Given the description of an element on the screen output the (x, y) to click on. 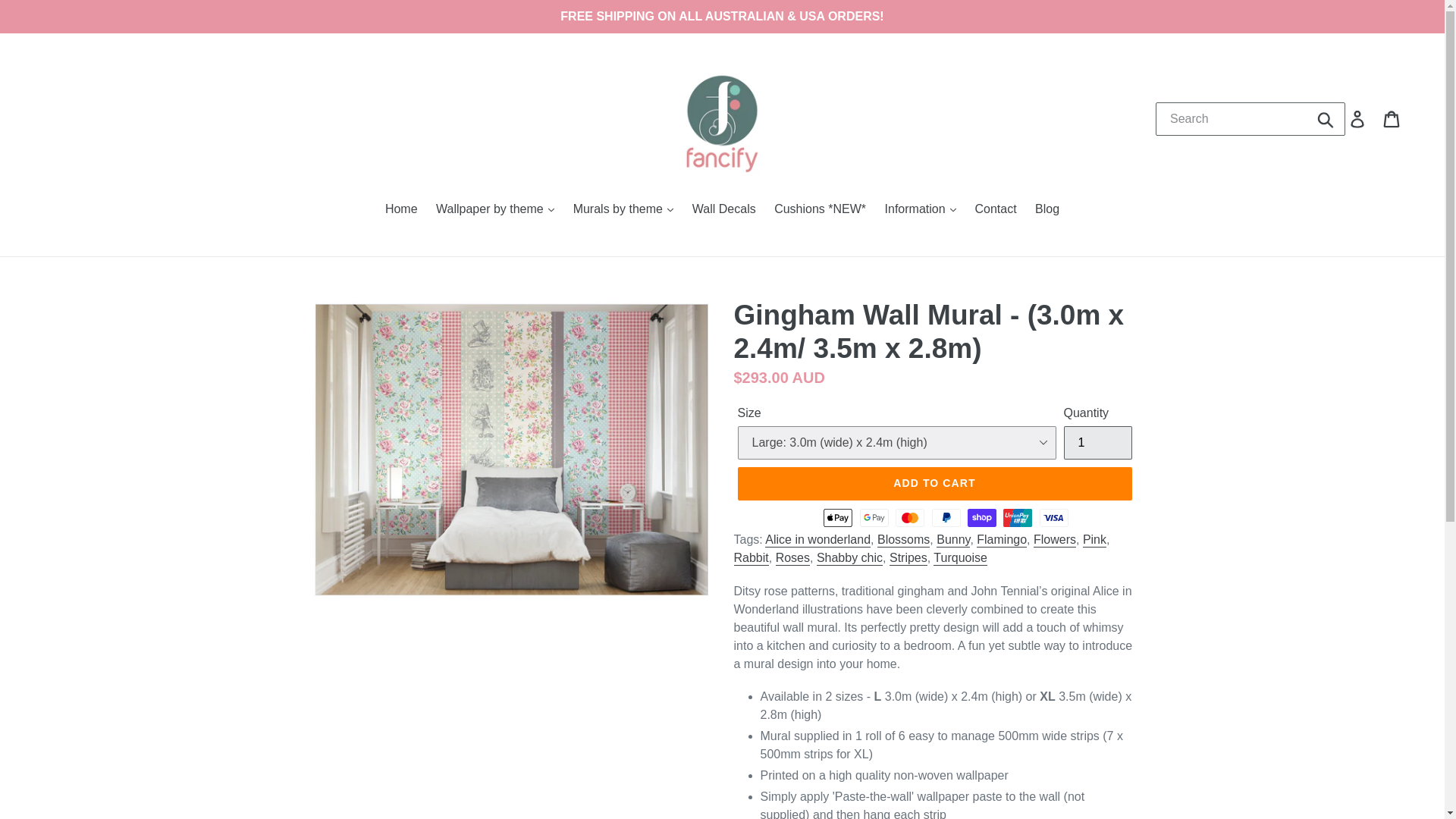
Submit (1326, 118)
Log in (1358, 117)
1 (1096, 442)
Cart (1392, 118)
